Given the description of an element on the screen output the (x, y) to click on. 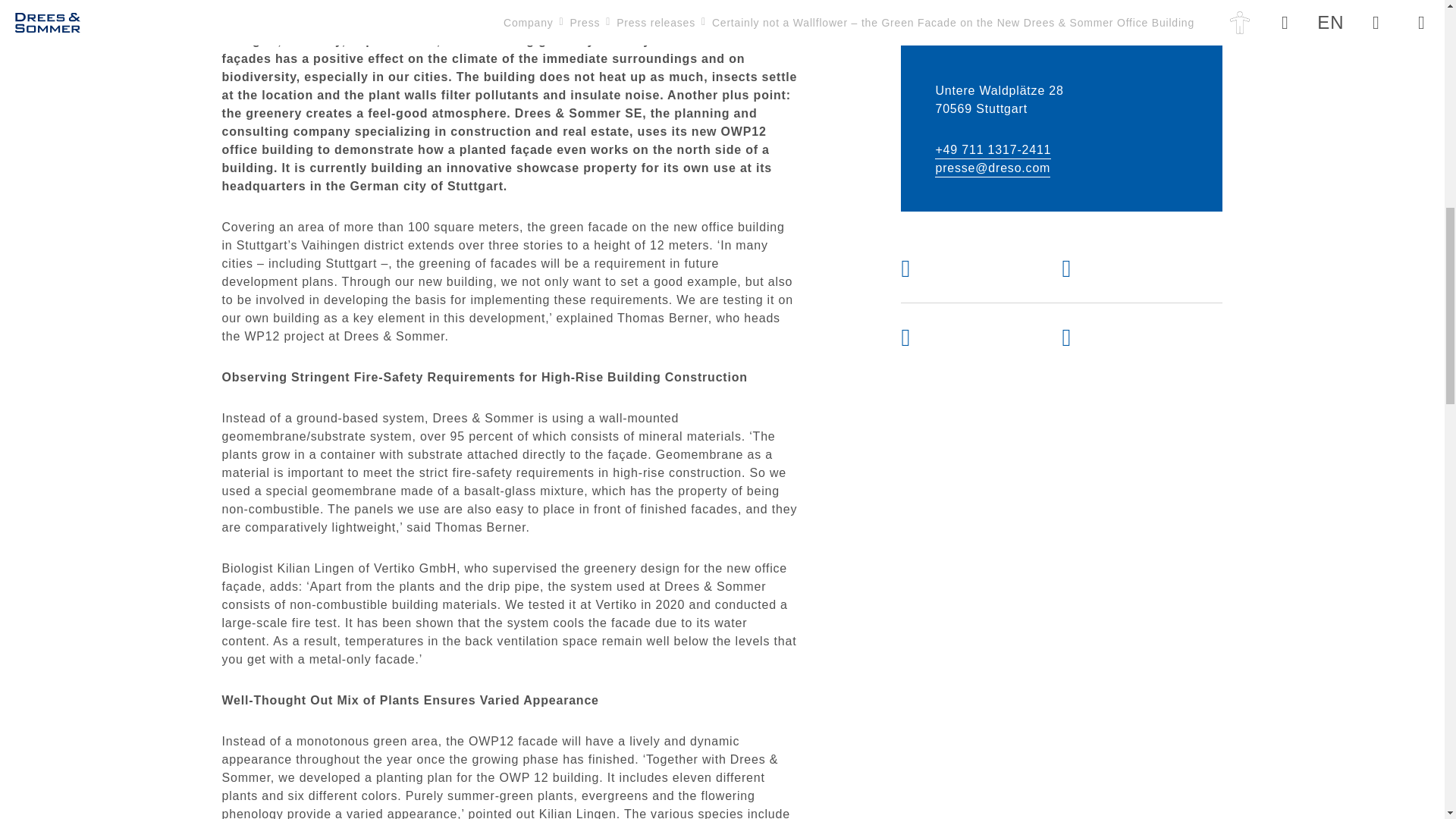
Send by email (961, 268)
print (1121, 268)
Share on LinkedIn (1121, 336)
Share on XING (961, 336)
Ecological and alive: (337, 4)
